Given the description of an element on the screen output the (x, y) to click on. 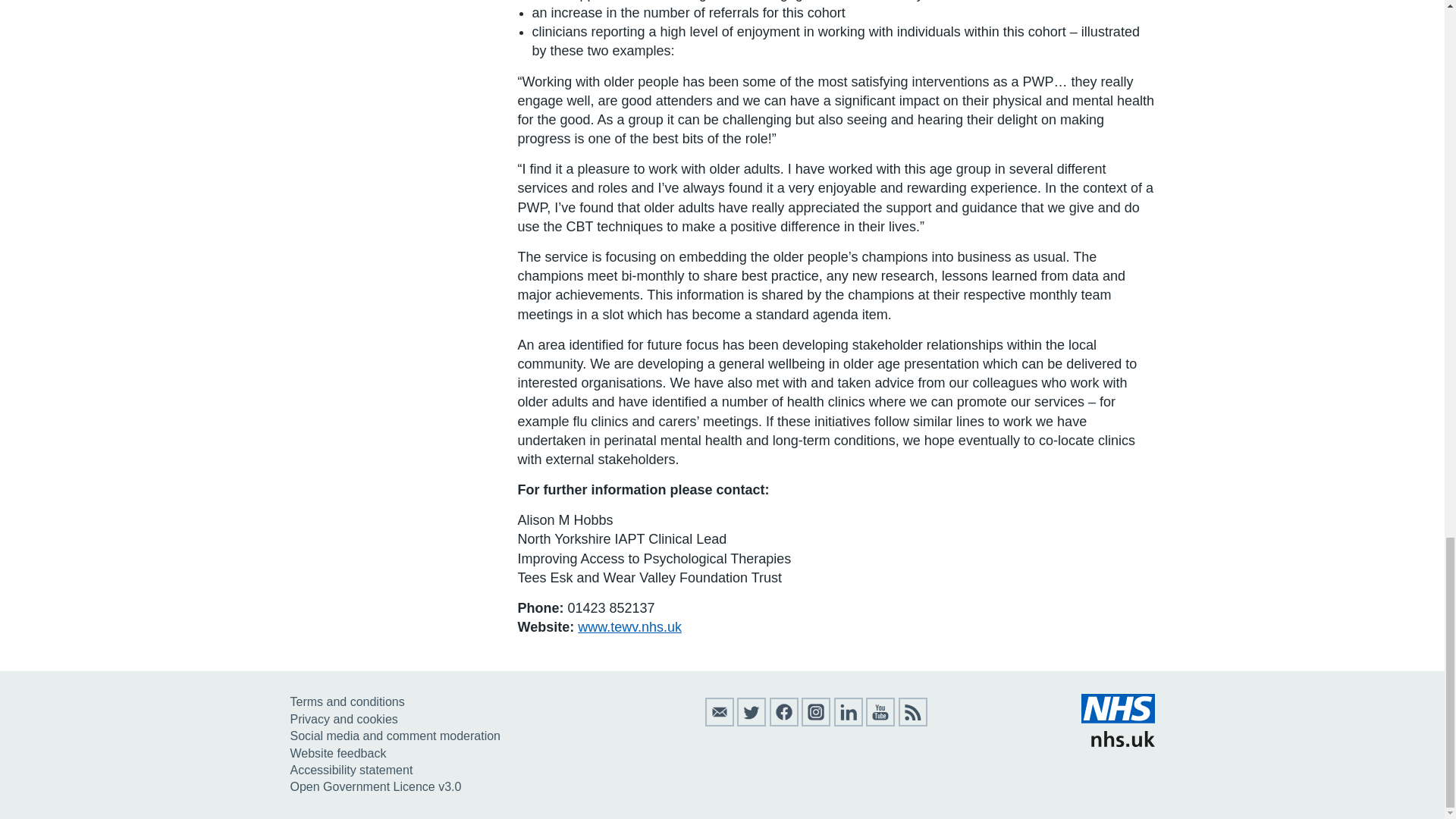
Terms and conditions (346, 701)
Social media and comment moderation (394, 735)
Privacy and cookies (343, 718)
Follow us on Facebook (783, 721)
Sign up to our email bulletins (718, 721)
Find us on Instagram (815, 721)
Open Government Licence v3.0 (375, 786)
Follow us on Twitter (750, 721)
Accessibility statement (350, 769)
